Given the description of an element on the screen output the (x, y) to click on. 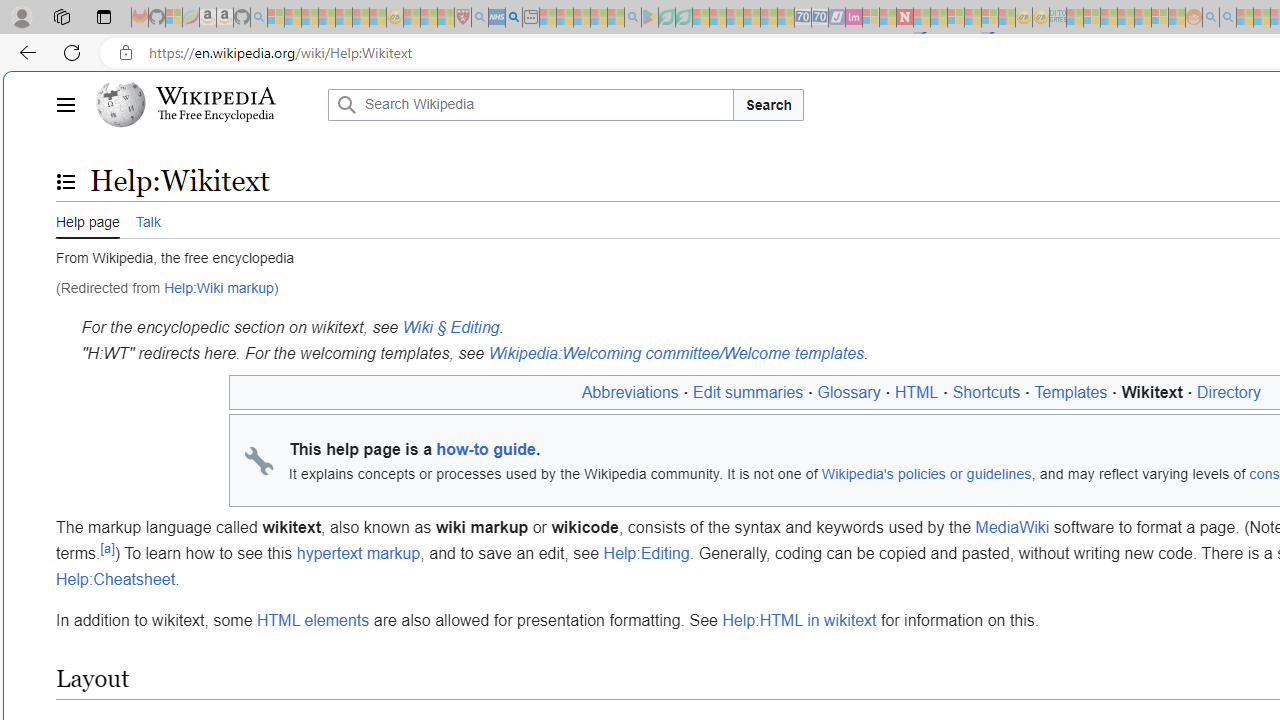
Directory (1229, 392)
Abbreviations (629, 392)
utah sues federal government - Search (513, 17)
Help page (88, 219)
Help:HTML in wikitext (798, 621)
